Given the description of an element on the screen output the (x, y) to click on. 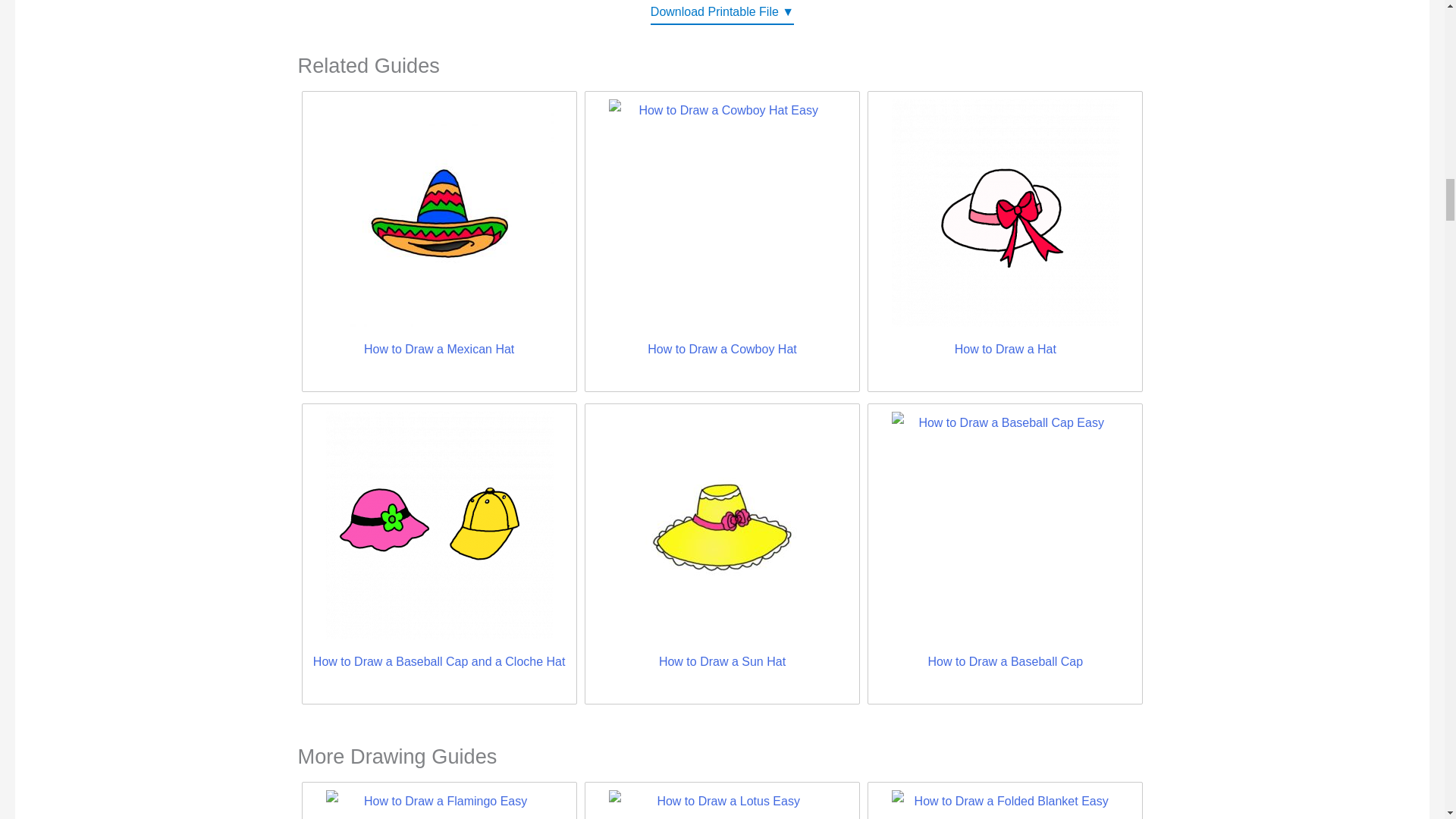
How to Draw a Mexican Hat (438, 212)
How to Draw a Cowboy Hat (721, 212)
How to Draw a Hat (1005, 212)
